Given the description of an element on the screen output the (x, y) to click on. 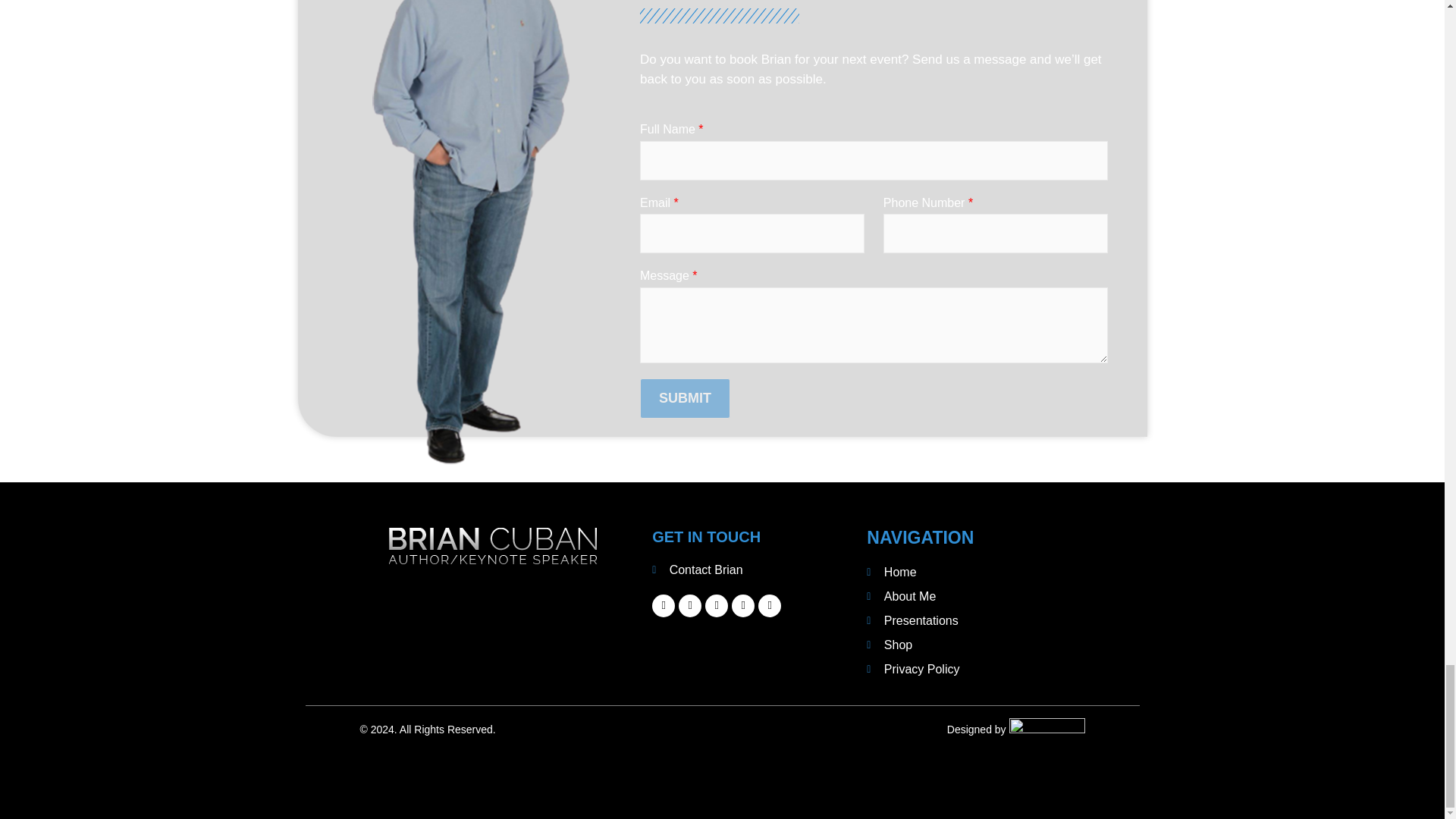
SUBMIT (685, 398)
Contact Brian (751, 570)
